Given the description of an element on the screen output the (x, y) to click on. 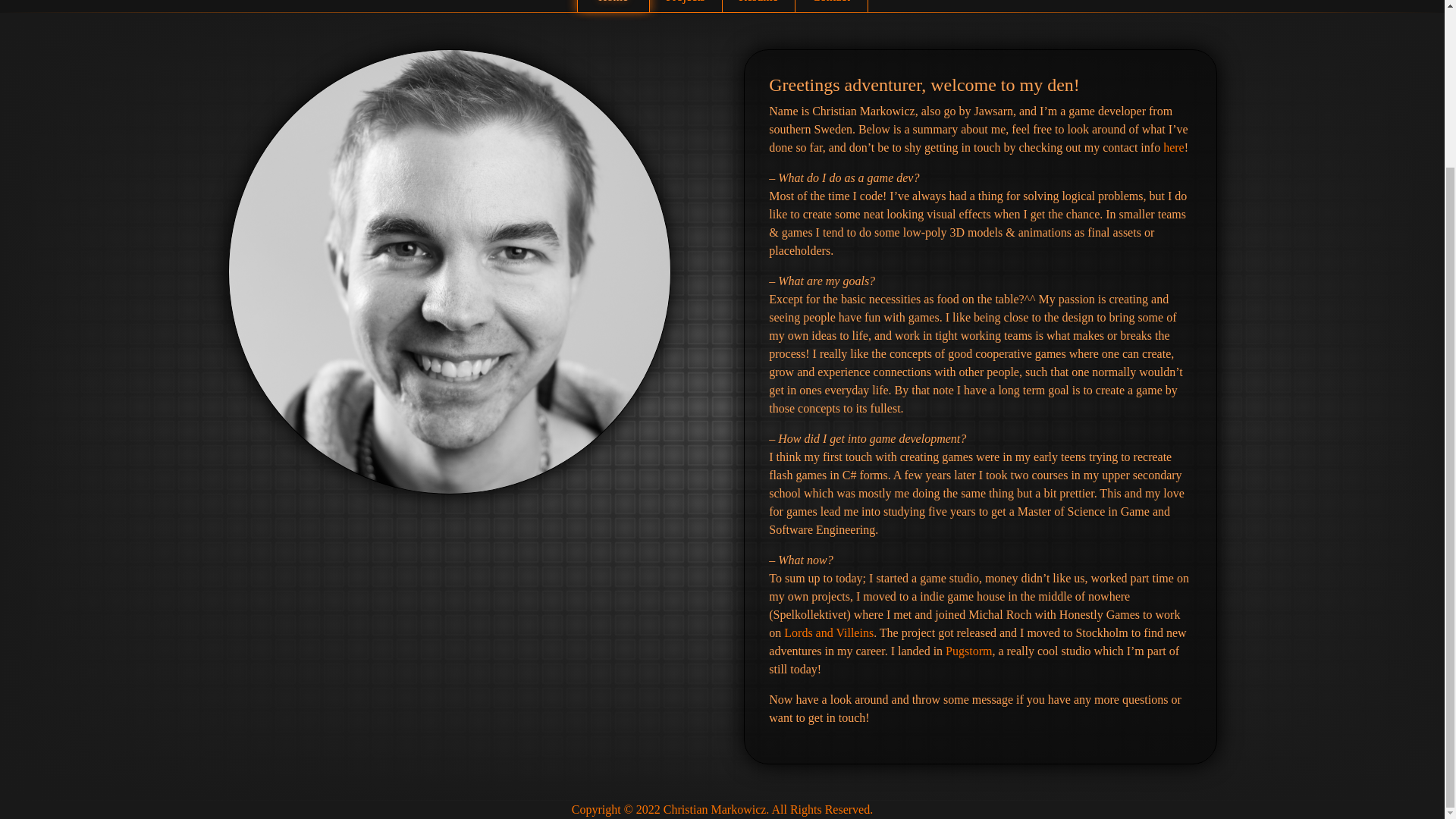
Lords and Villeins (828, 632)
Pugstorm (967, 650)
here (1174, 146)
Projects (684, 6)
Contact (830, 6)
Resume (757, 6)
Home (613, 6)
